Given the description of an element on the screen output the (x, y) to click on. 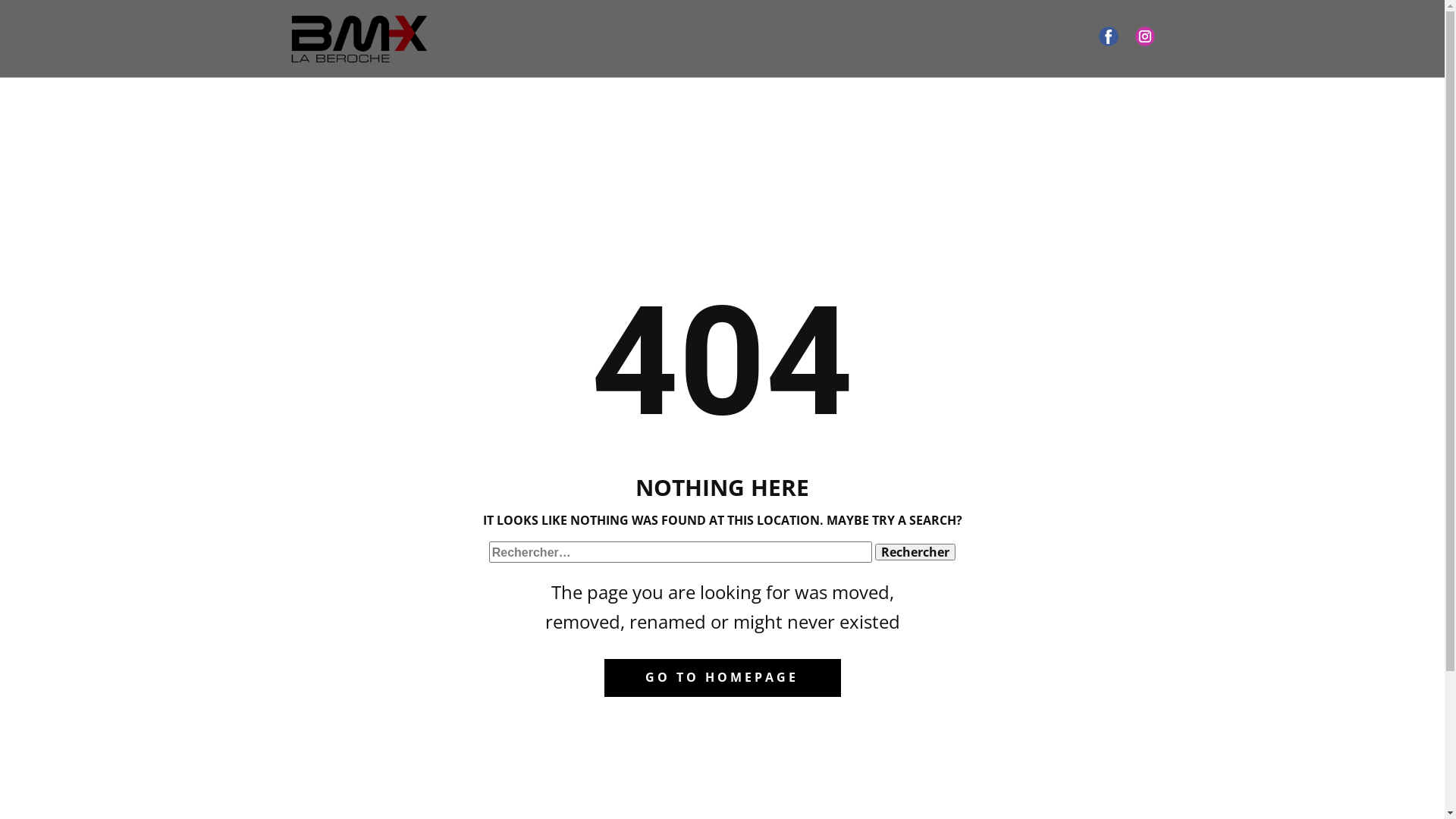
instagram Element type: hover (1144, 36)
GO TO HOMEPAGE Element type: text (721, 677)
Rechercher Element type: text (915, 551)
facebook Element type: hover (1107, 36)
Accueil Element type: hover (358, 38)
